Given the description of an element on the screen output the (x, y) to click on. 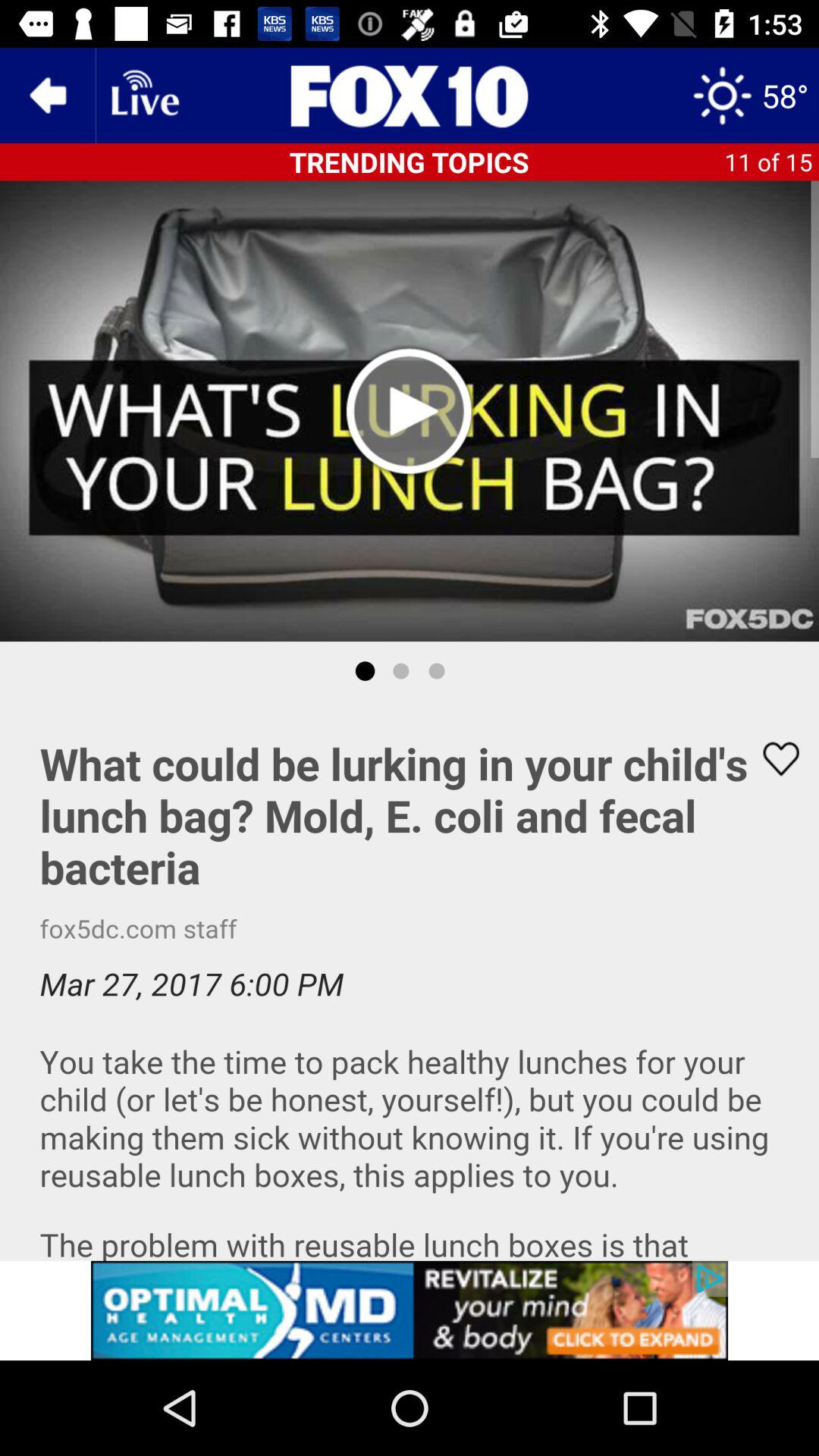
adventisment (409, 1310)
